Given the description of an element on the screen output the (x, y) to click on. 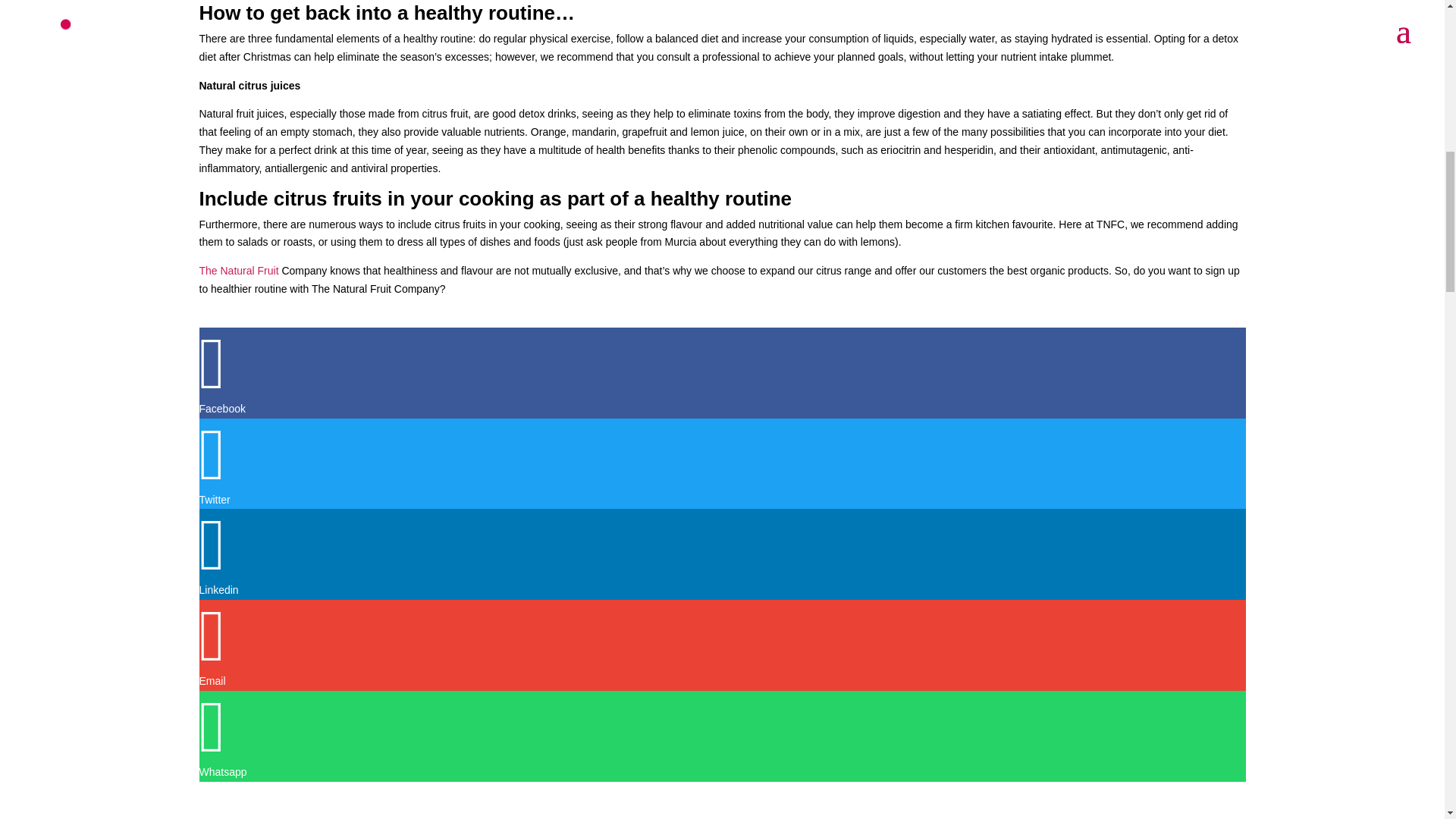
The Natural Fruit (238, 270)
